Given the description of an element on the screen output the (x, y) to click on. 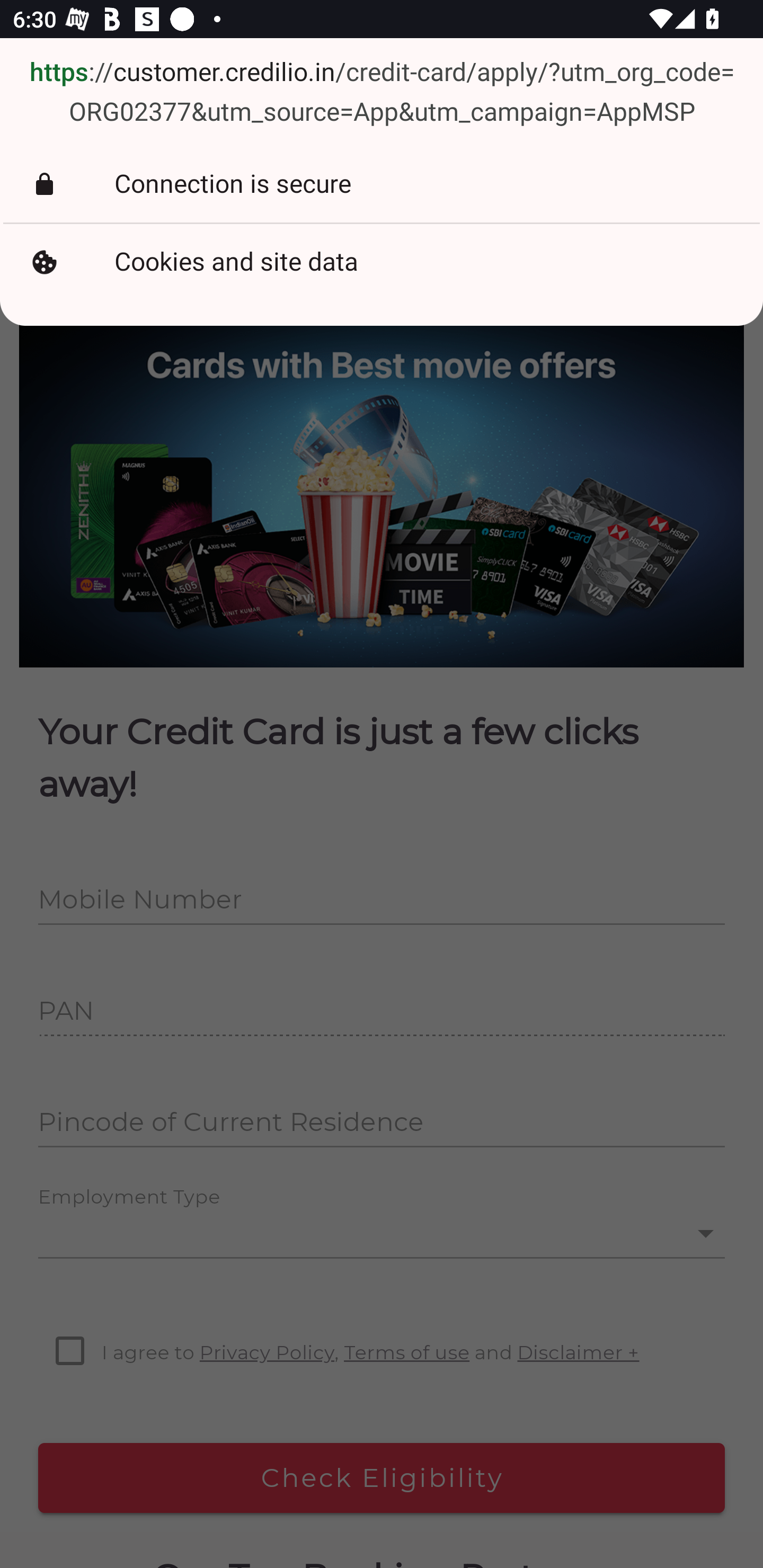
Connection is secure (381, 183)
Cookies and site data (381, 262)
